Given the description of an element on the screen output the (x, y) to click on. 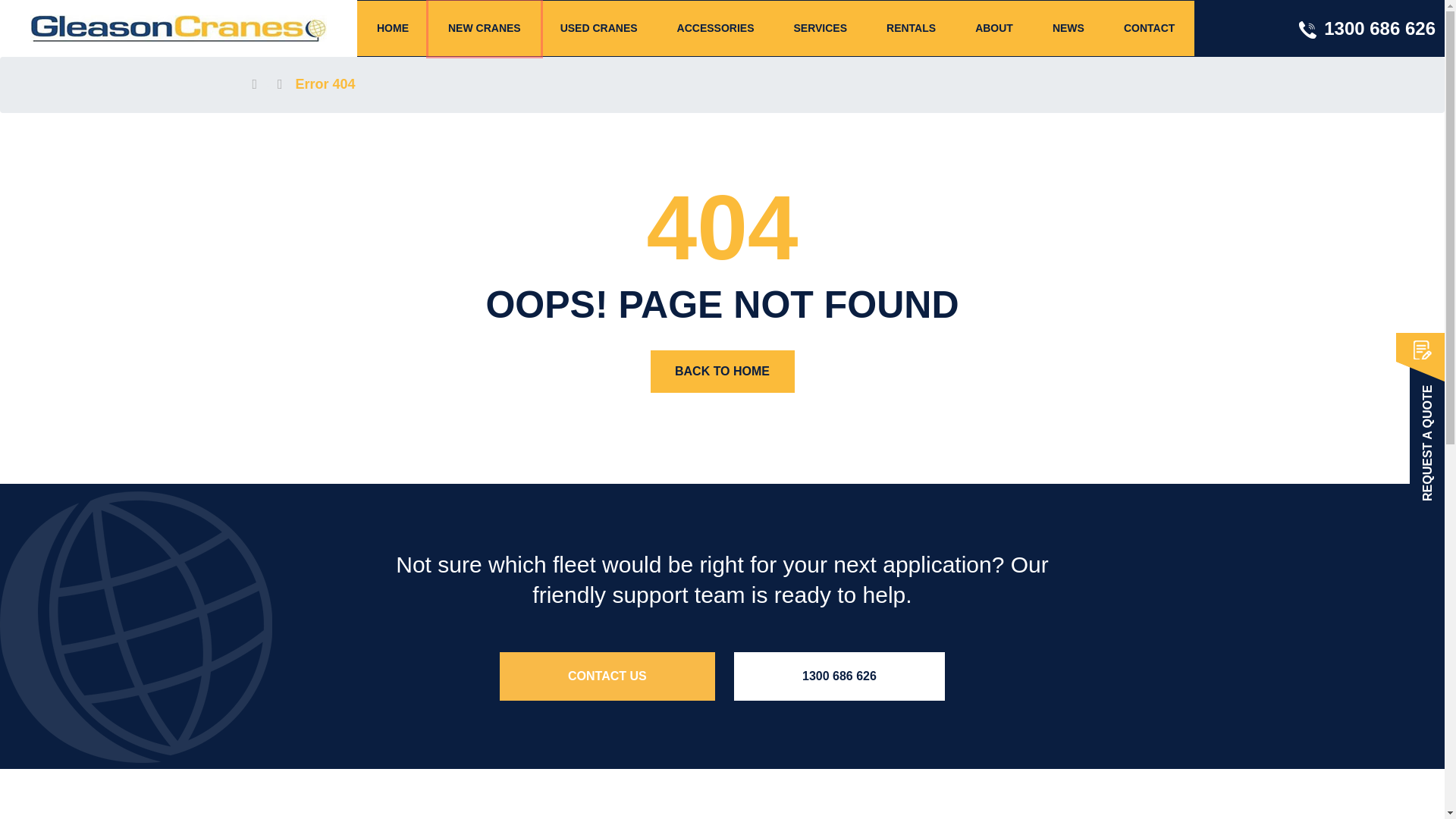
ABOUT Element type: text (993, 28)
1300 686 626 Element type: text (1371, 28)
HOME Element type: text (392, 28)
USED CRANES Element type: text (598, 28)
NEWS Element type: text (1068, 28)
BACK TO HOME Element type: text (722, 371)
1300 686 626 Element type: text (839, 676)
CONTACT Element type: text (1149, 28)
SERVICES Element type: text (819, 28)
CONTACT US Element type: text (607, 676)
RENTALS Element type: text (910, 28)
ACCESSORIES Element type: text (715, 28)
Home Element type: text (271, 84)
NEW CRANES Element type: text (484, 28)
